Given the description of an element on the screen output the (x, y) to click on. 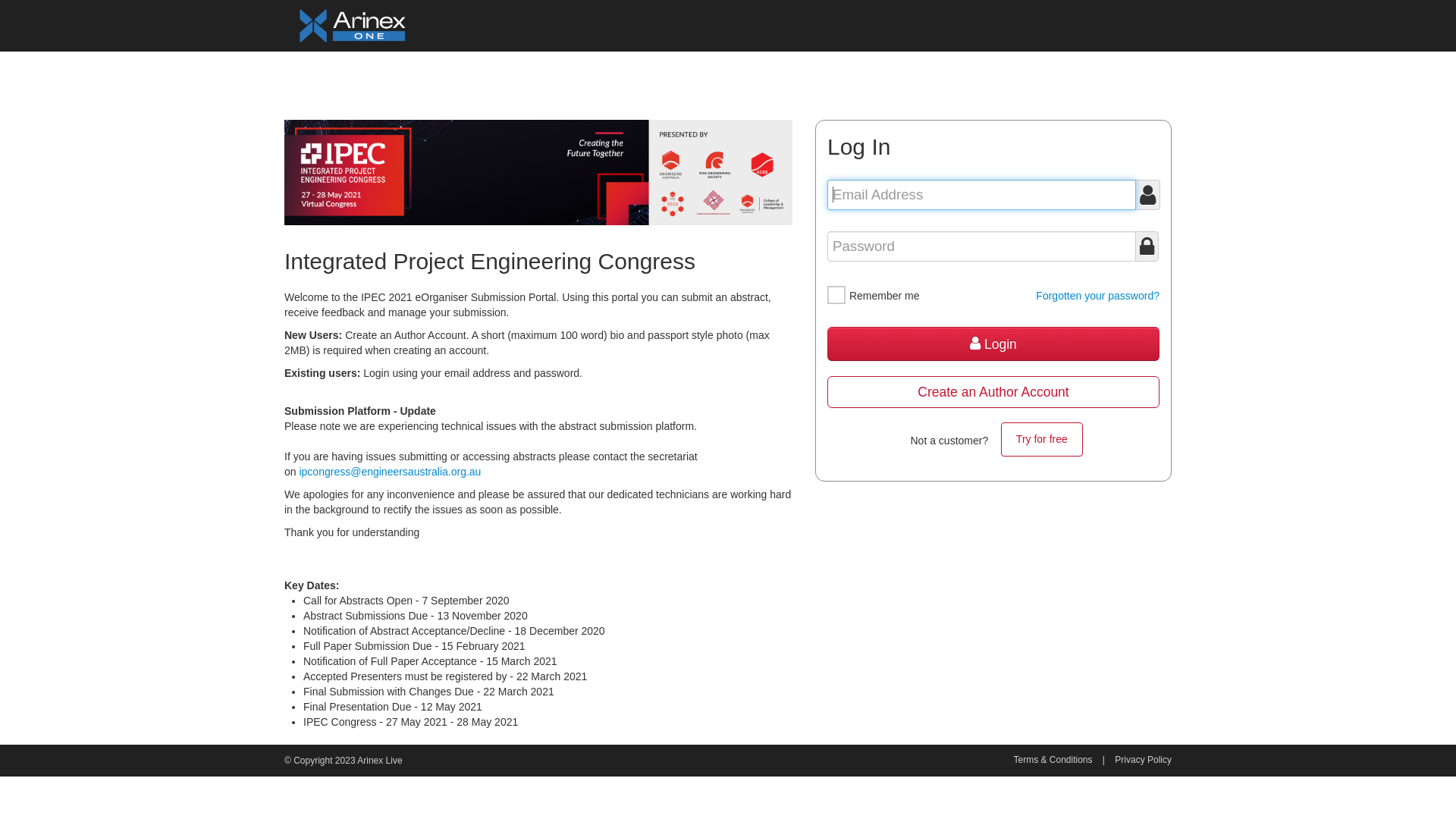
Terms & Conditions Element type: text (1052, 759)
Try for free Element type: text (1041, 439)
Privacy Policy Element type: text (1142, 759)
Login Element type: text (993, 343)
Create an Author Account Element type: text (993, 391)
Forgotten your password? Element type: text (1097, 295)
ipcongress@engineersaustralia.org.au Element type: text (389, 471)
